Given the description of an element on the screen output the (x, y) to click on. 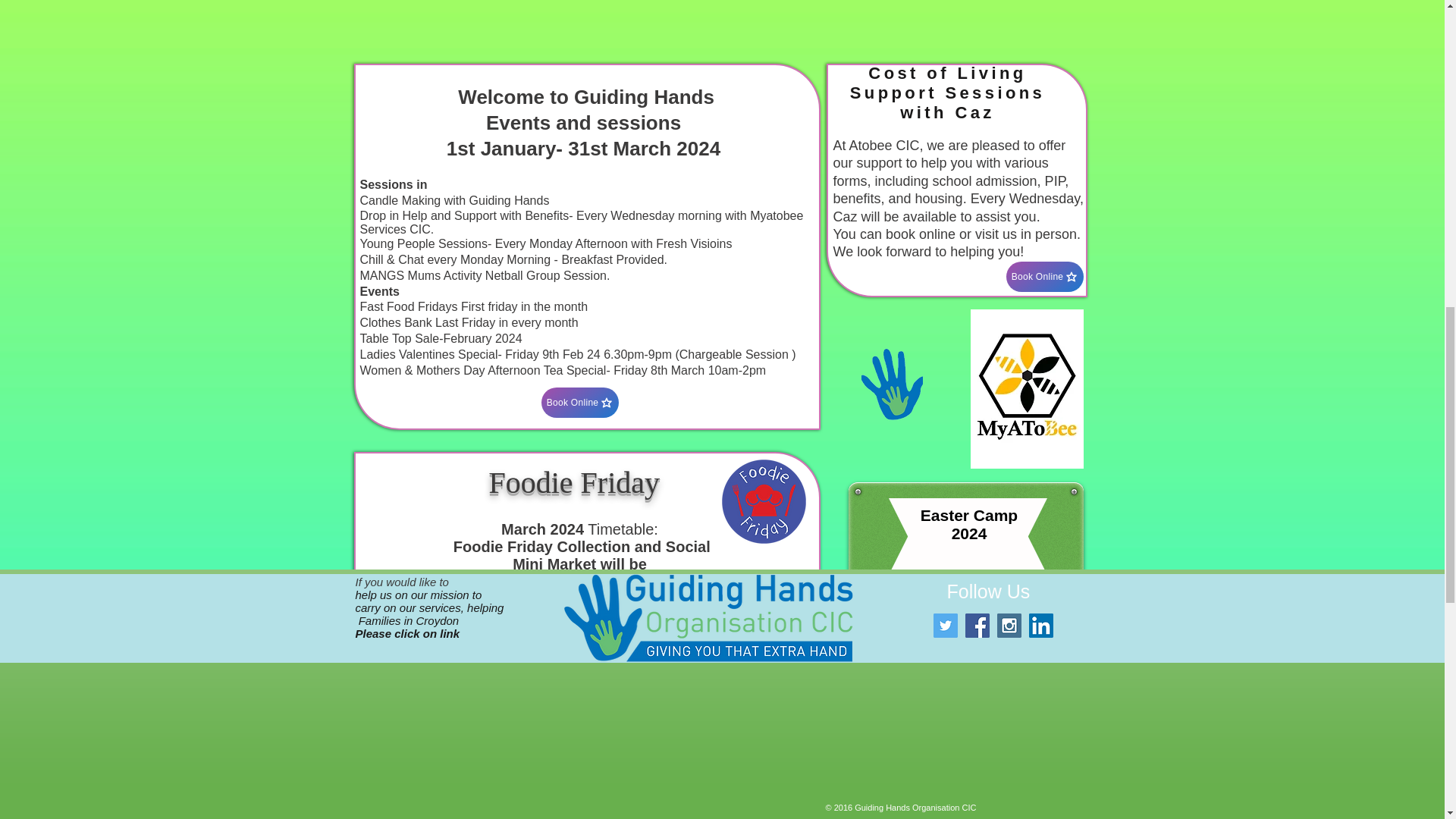
Read More (588, 755)
Book Online (1044, 276)
Book Online (579, 402)
Book Online (579, 649)
